Given the description of an element on the screen output the (x, y) to click on. 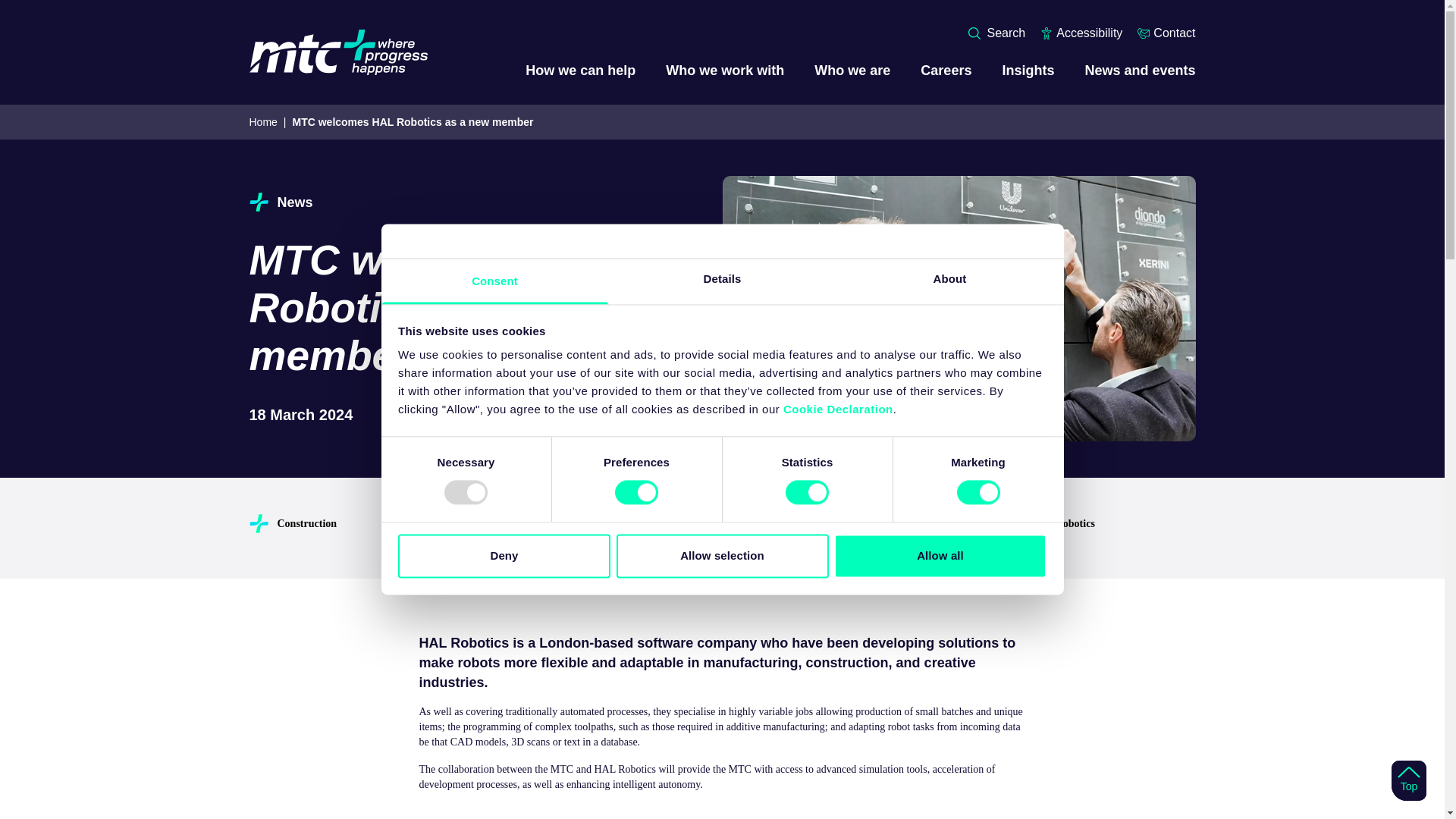
Cookie Declaration (838, 408)
About (948, 280)
Consent (494, 280)
Details (721, 280)
